Given the description of an element on the screen output the (x, y) to click on. 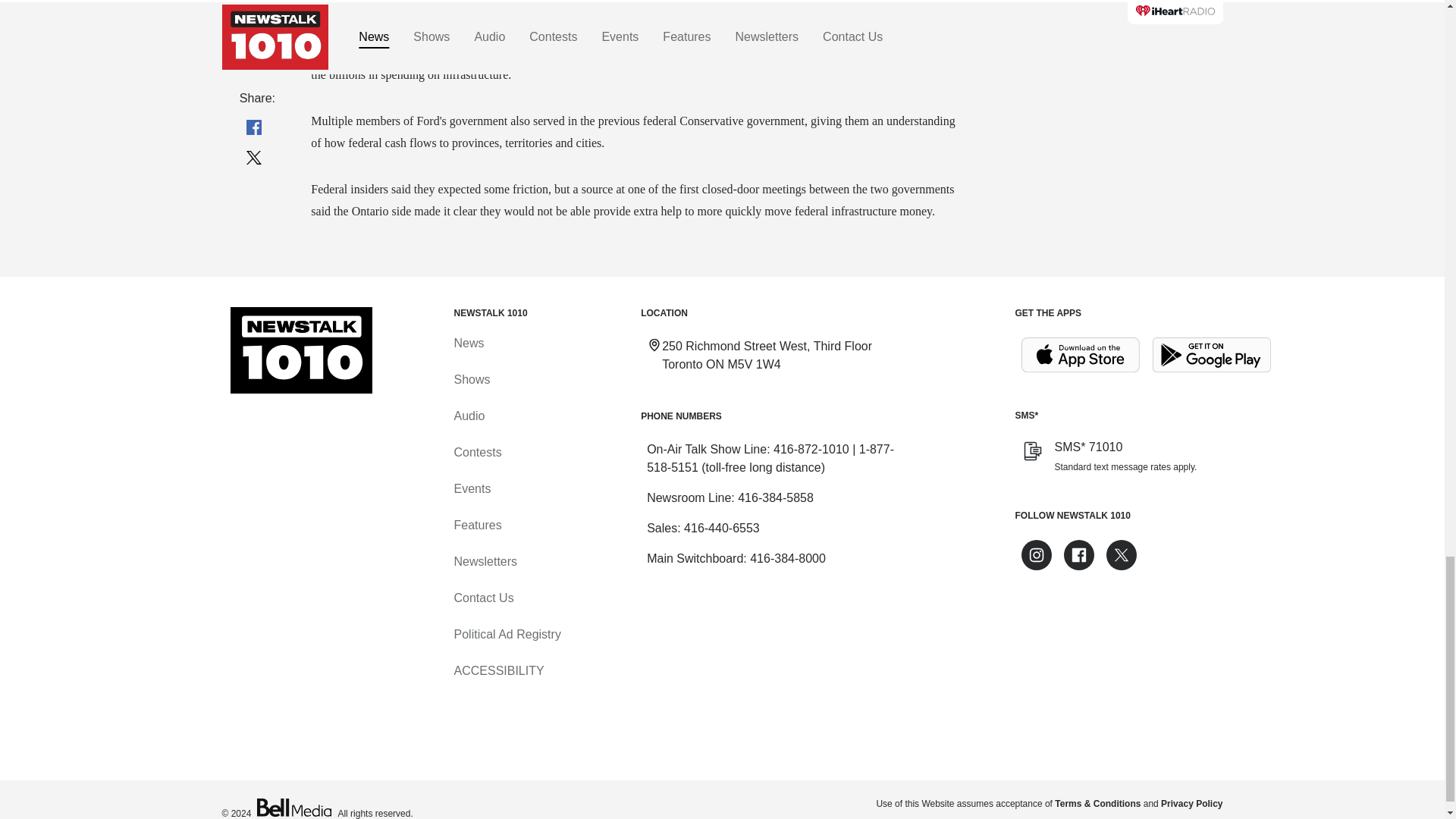
Download on the App Store (1080, 355)
416-440-6553 (722, 527)
416-384-5858 (775, 497)
416-384-8000 (787, 558)
Contact Us (482, 597)
Shows (470, 379)
Events (471, 488)
Political Ad Registry (506, 634)
Privacy Policy (1191, 803)
Newsletters (484, 561)
